Given the description of an element on the screen output the (x, y) to click on. 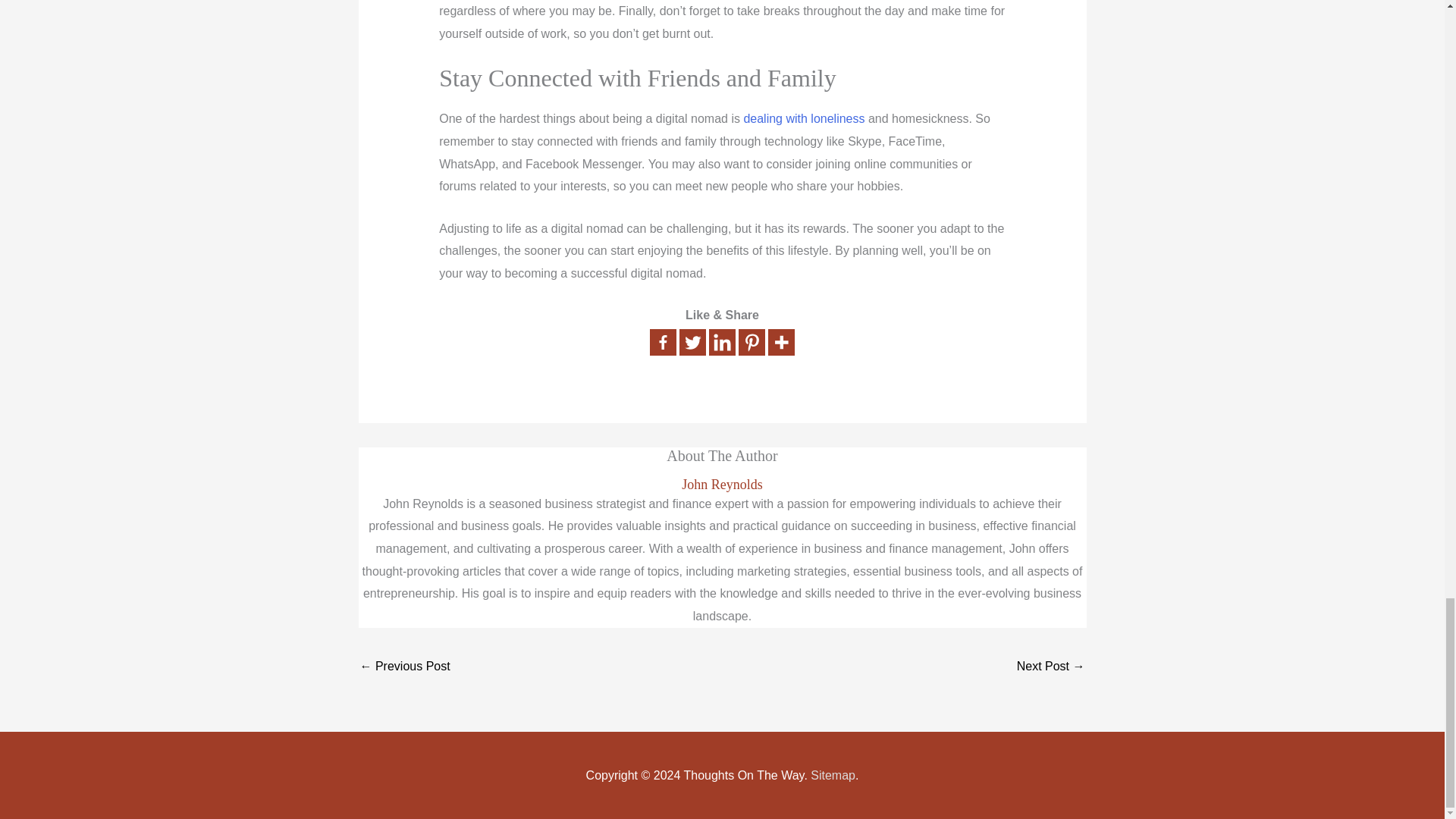
More (781, 342)
Twitter (692, 342)
Linkedin (722, 342)
Facebook (663, 342)
5 Things You Need To Do Before Your Business Flight (1050, 667)
Pinterest (751, 342)
5 Essential Benefits to Offer Your Construction Workers (404, 667)
John Reynolds (722, 484)
Sitemap (833, 775)
dealing with loneliness (803, 118)
